Given the description of an element on the screen output the (x, y) to click on. 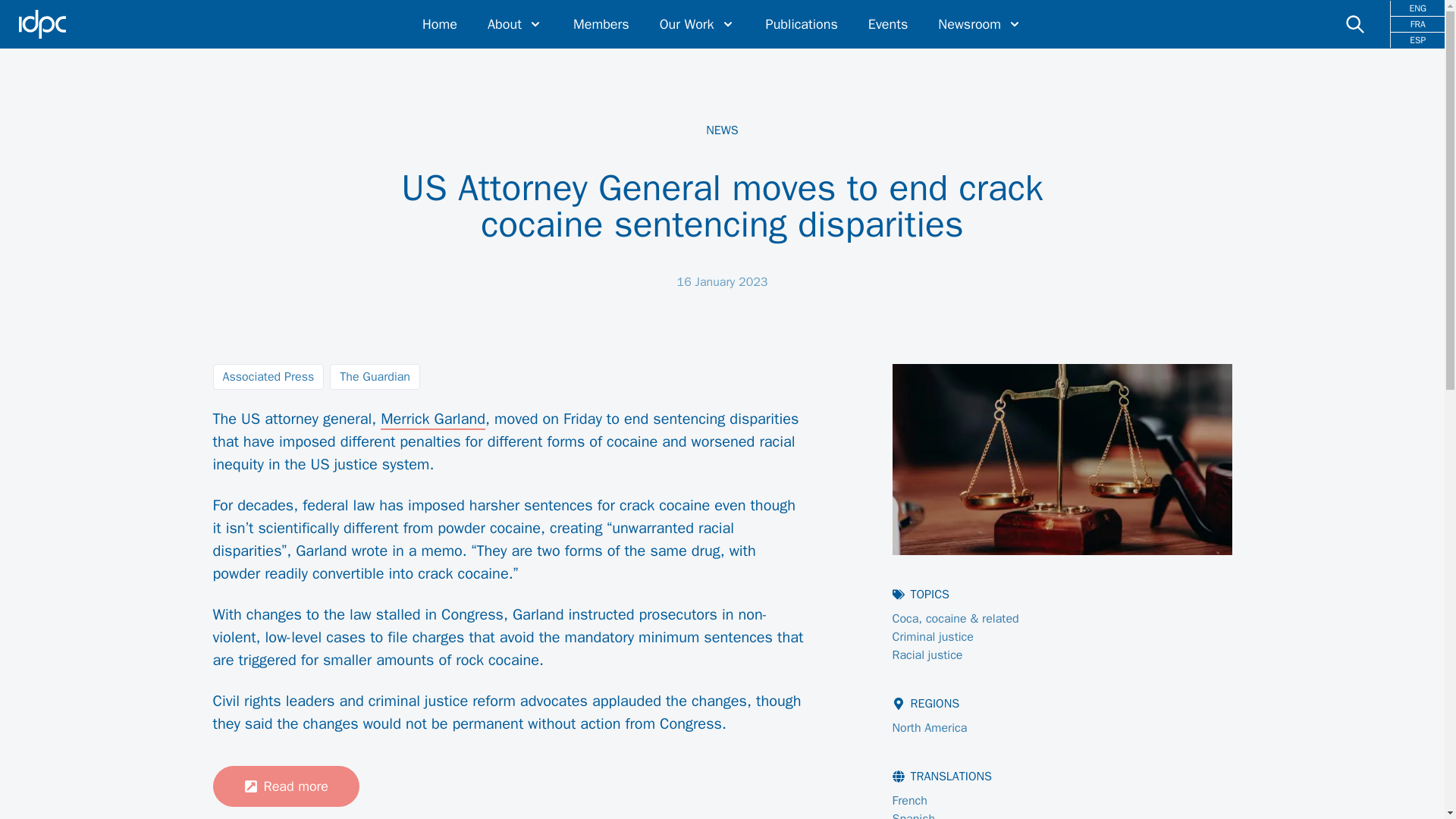
IDPC (42, 24)
Our Work (697, 24)
Home (439, 23)
Racial justice (927, 654)
NEWS (722, 130)
Merrick Garland (432, 419)
North America (930, 727)
Spanish (914, 815)
Members (600, 23)
Criminal justice (933, 636)
